Given the description of an element on the screen output the (x, y) to click on. 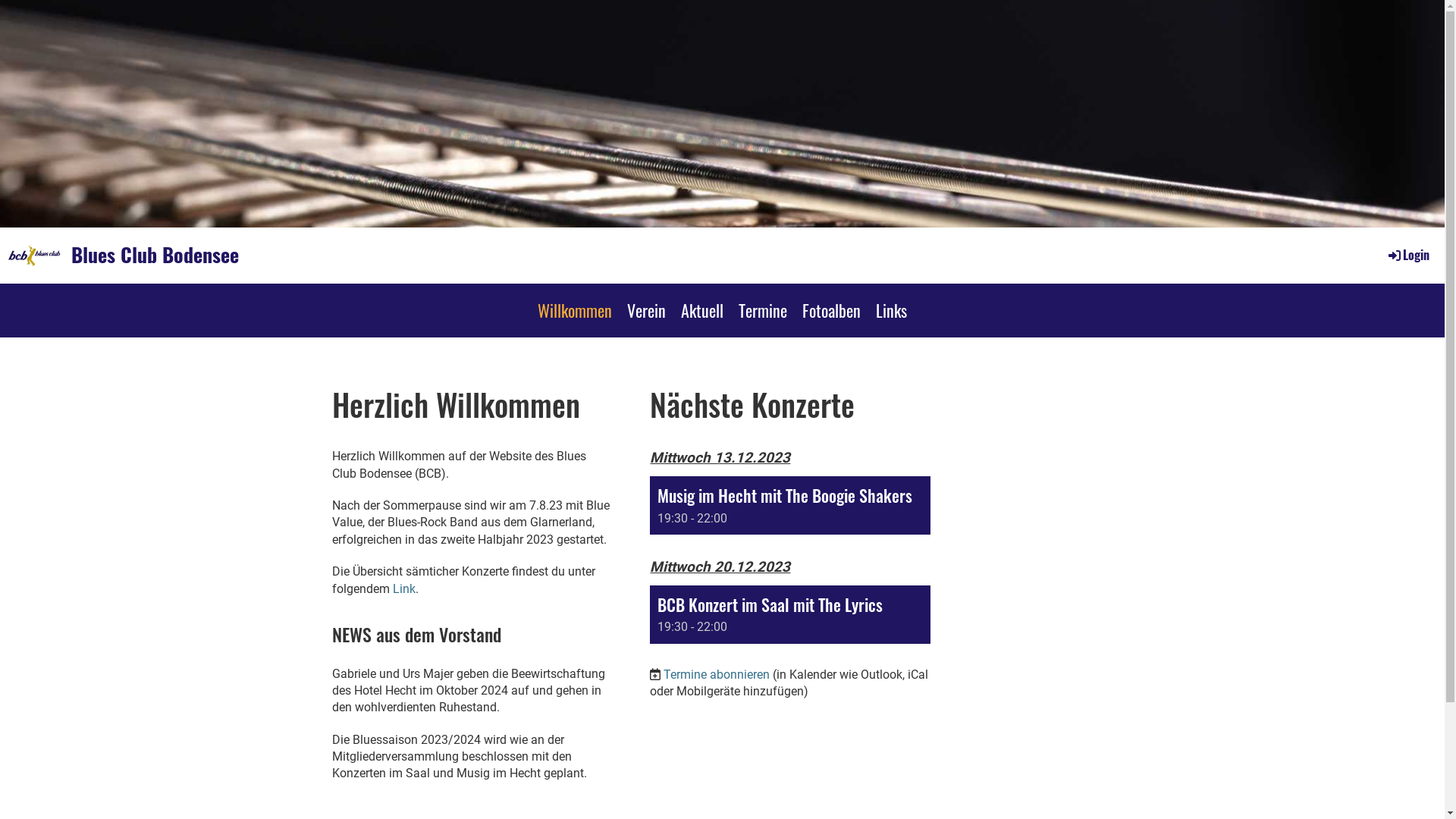
Termine abonnieren Element type: text (716, 674)
Musig im Hecht mit The Boogie Shakers
19:30 - 22:00 Element type: text (789, 505)
Login Element type: text (1407, 254)
Blues Club Bodensee Element type: text (154, 254)
Links Element type: text (891, 310)
BCB Konzert im Saal mit The Lyrics
19:30 - 22:00 Element type: text (789, 614)
Willkommen Element type: text (574, 310)
Fotoalben Element type: text (831, 310)
Aktuell Element type: text (702, 310)
Link Element type: text (403, 588)
Termine Element type: text (762, 310)
Verein Element type: text (646, 310)
